Given the description of an element on the screen output the (x, y) to click on. 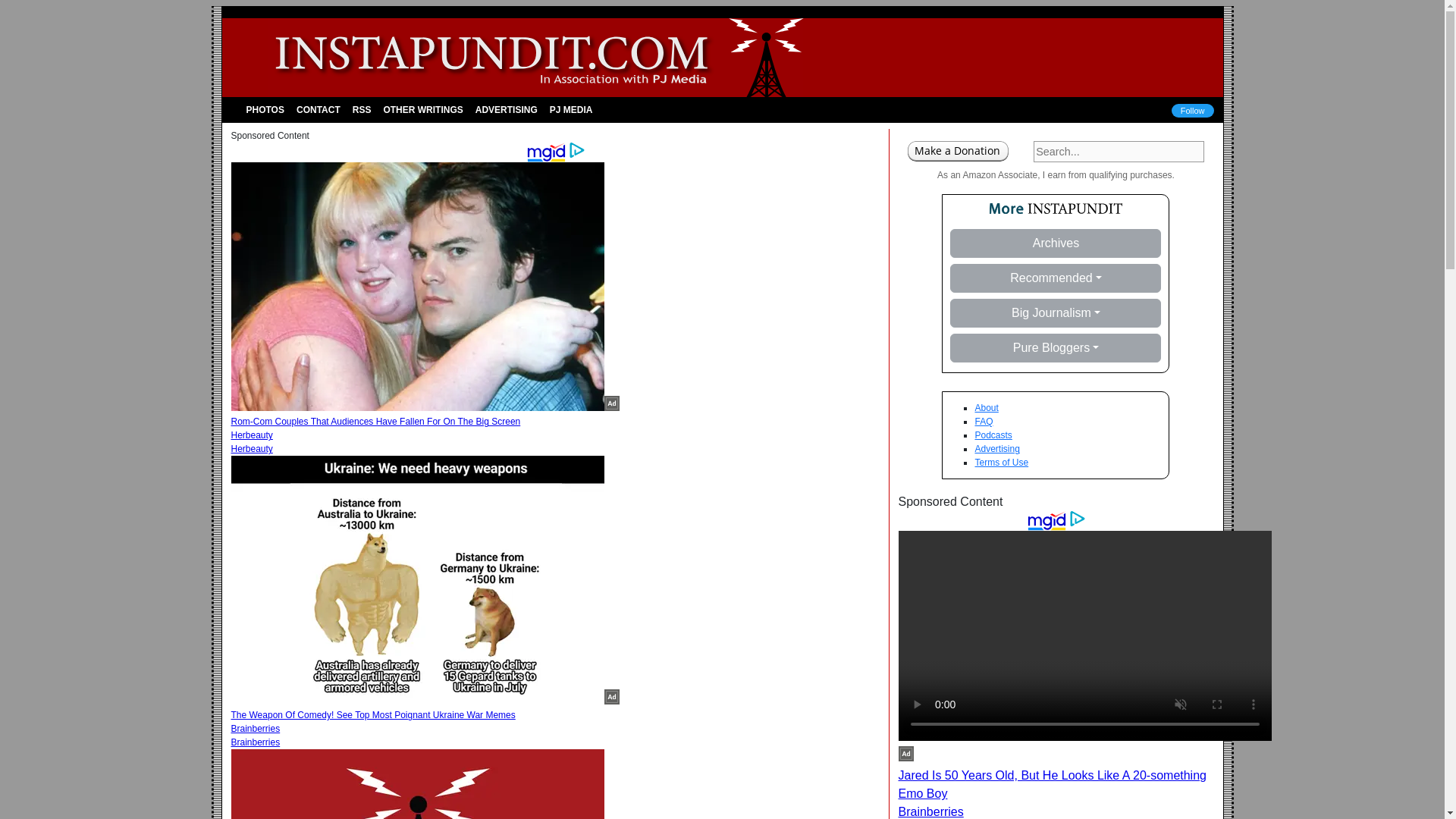
Recommended (1055, 277)
RSS (361, 109)
PHOTOS (264, 109)
Archives (1055, 243)
Photos (264, 109)
PJ MEDIA (570, 109)
RSS (361, 109)
ADVERTISING (505, 109)
Follow (1193, 110)
OTHER WRITINGS (422, 109)
PJ Media (570, 109)
Other Writings (422, 109)
CONTACT (317, 109)
Contact (317, 109)
Advertising (505, 109)
